Given the description of an element on the screen output the (x, y) to click on. 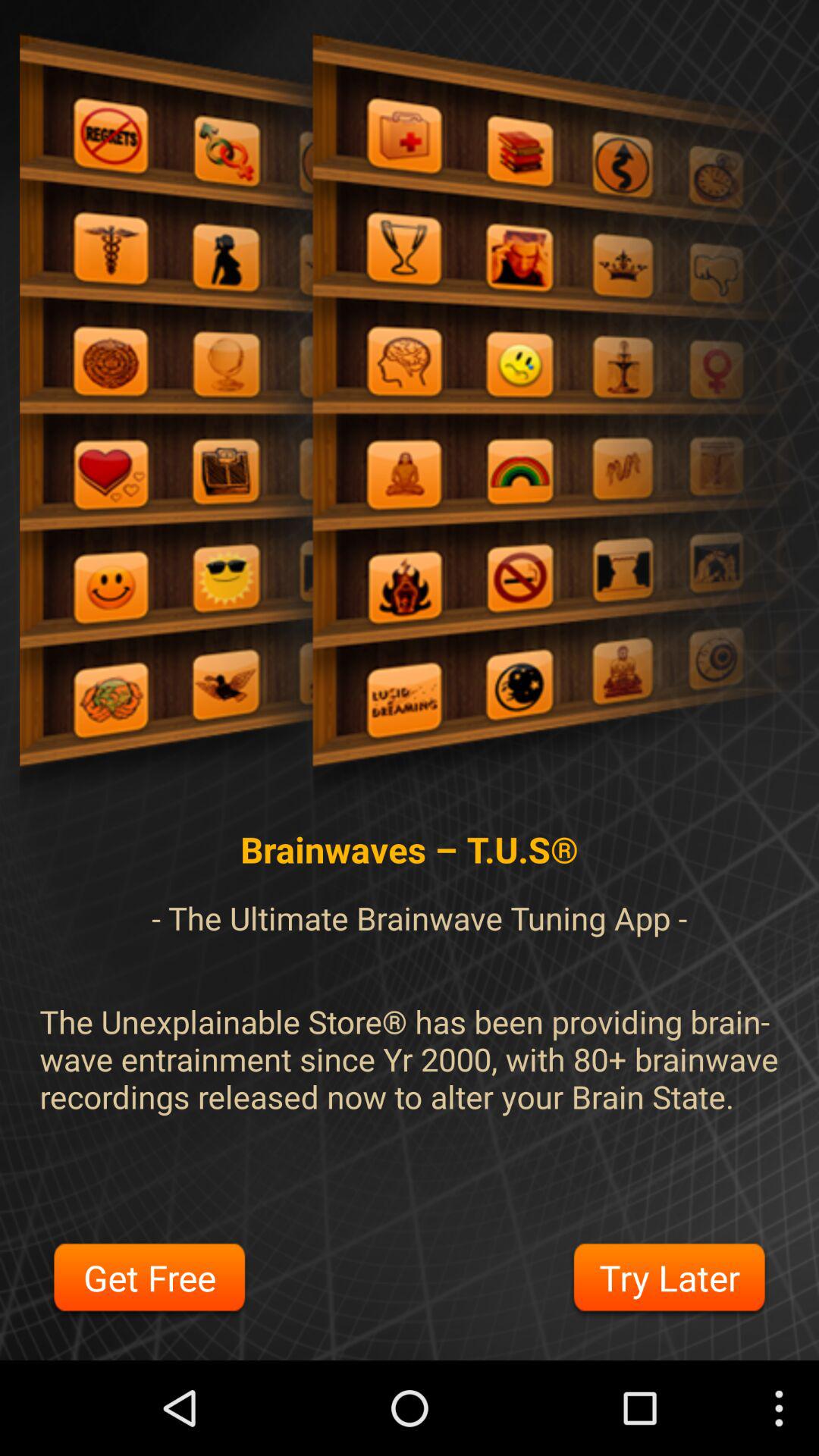
choose the item next to the try later button (149, 1280)
